Given the description of an element on the screen output the (x, y) to click on. 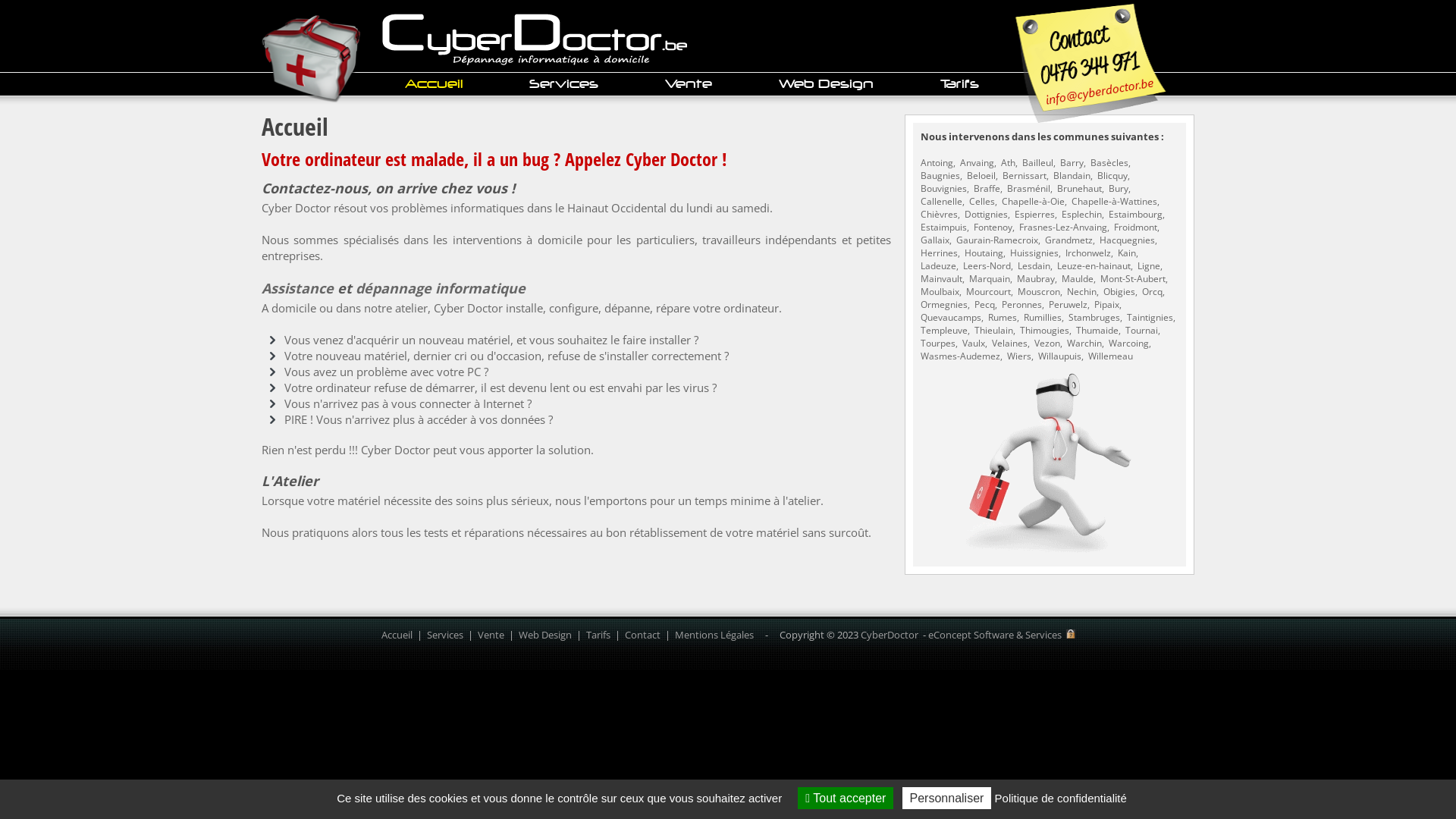
Marquain Element type: text (989, 278)
Lesdain Element type: text (1033, 265)
Mourcourt Element type: text (988, 291)
Ath Element type: text (1008, 162)
Thieulain Element type: text (993, 329)
Bailleul Element type: text (1037, 162)
Blandain Element type: text (1071, 175)
Wiers Element type: text (1019, 355)
Antoing Element type: text (936, 162)
Celles Element type: text (981, 200)
Connexion Element type: hover (1070, 634)
Accueil Element type: text (395, 634)
Velaines Element type: text (1009, 342)
Contact Element type: text (642, 634)
Brunehaut Element type: text (1079, 188)
Irchonwelz Element type: text (1087, 252)
Leuze-en-hainaut Element type: text (1093, 265)
Mouscron Element type: text (1038, 291)
Anvaing Element type: text (977, 162)
Tarifs Element type: text (959, 83)
Quevaucamps Element type: text (950, 316)
Stambruges Element type: text (1094, 316)
Froidmont Element type: text (1135, 226)
Thumaide Element type: text (1097, 329)
Herrines Element type: text (938, 252)
Bernissart Element type: text (1024, 175)
Vente Element type: text (490, 634)
Services Element type: text (563, 83)
Personnaliser Element type: text (946, 798)
Warcoing Element type: text (1128, 342)
Maubray Element type: text (1035, 278)
Pecq Element type: text (984, 304)
Esplechin Element type: text (1081, 213)
Barry Element type: text (1071, 162)
Web Design Element type: text (544, 634)
Braffe Element type: text (986, 188)
Blicquy Element type: text (1112, 175)
Pipaix Element type: text (1106, 304)
configure Element type: text (573, 307)
Taintignies Element type: text (1149, 316)
Obigies Element type: text (1119, 291)
Baugnies Element type: text (940, 175)
Kain Element type: text (1126, 252)
eConcept Software & Services Element type: text (994, 634)
Templeuve Element type: text (943, 329)
Vezon Element type: text (1047, 342)
Accueil Element type: text (433, 83)
Estaimbourg Element type: text (1135, 213)
Web Design Element type: text (825, 83)
Services Element type: text (444, 634)
Frasnes-Lez-Anvaing Element type: text (1063, 226)
Bury Element type: text (1118, 188)
Rumillies Element type: text (1042, 316)
CyberDoctor Element type: text (888, 634)
Tourpes Element type: text (937, 342)
installe Element type: text (523, 307)
Willemeau Element type: text (1110, 355)
Tarifs Element type: text (597, 634)
Ligne Element type: text (1148, 265)
Maulde Element type: text (1077, 278)
Peronnes Element type: text (1021, 304)
Mont-St-Aubert Element type: text (1132, 278)
Orcq Element type: text (1152, 291)
Vaulx Element type: text (973, 342)
Hacquegnies Element type: text (1126, 239)
Thimougies Element type: text (1044, 329)
Fontenoy Element type: text (992, 226)
Callenelle Element type: text (941, 200)
Warchin Element type: text (1083, 342)
Peruwelz Element type: text (1067, 304)
Grandmetz Element type: text (1068, 239)
Leers-Nord Element type: text (986, 265)
Vente Element type: text (688, 83)
Gaurain-Ramecroix Element type: text (997, 239)
Moulbaix Element type: text (939, 291)
Huissignies Element type: text (1034, 252)
Nechin Element type: text (1081, 291)
Tournai Element type: text (1141, 329)
Mainvault Element type: text (941, 278)
Houtaing Element type: text (983, 252)
Espierres Element type: text (1034, 213)
Wasmes-Audemez Element type: text (960, 355)
Ormegnies Element type: text (943, 304)
Beloeil Element type: text (980, 175)
Ladeuze Element type: text (938, 265)
Willaupuis Element type: text (1059, 355)
Assistance Element type: text (297, 288)
Tout accepter Element type: text (845, 798)
Estaimpuis Element type: text (943, 226)
Dottignies Element type: text (985, 213)
Rumes Element type: text (1002, 316)
Gallaix Element type: text (934, 239)
Bouvignies Element type: text (943, 188)
